Given the description of an element on the screen output the (x, y) to click on. 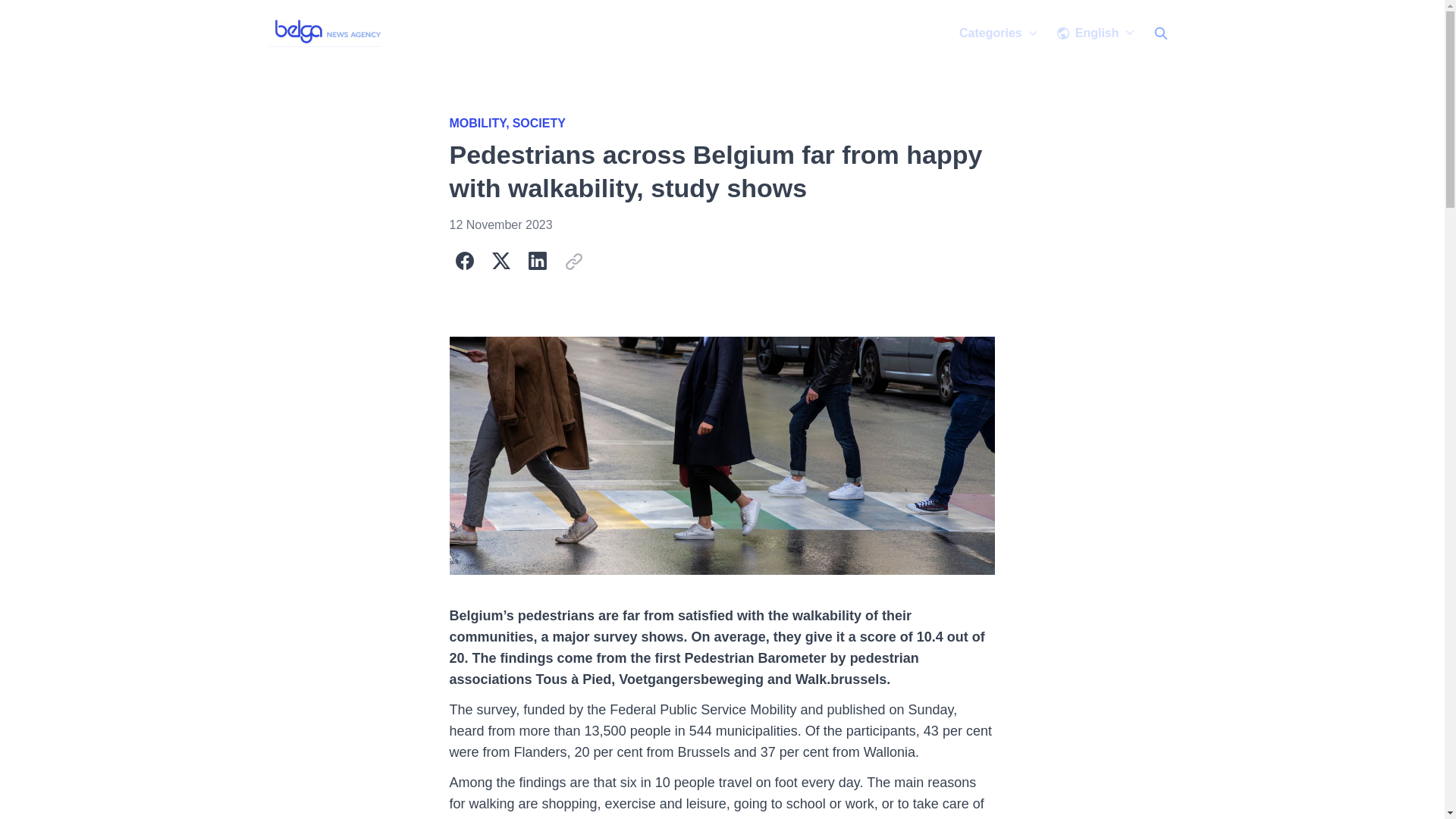
MOBILITY (480, 123)
SOCIETY (539, 123)
Copy URL (572, 260)
English (1095, 33)
BELGANEWSAGENCY.EU (326, 33)
Categories (997, 33)
Search (1159, 32)
